Given the description of an element on the screen output the (x, y) to click on. 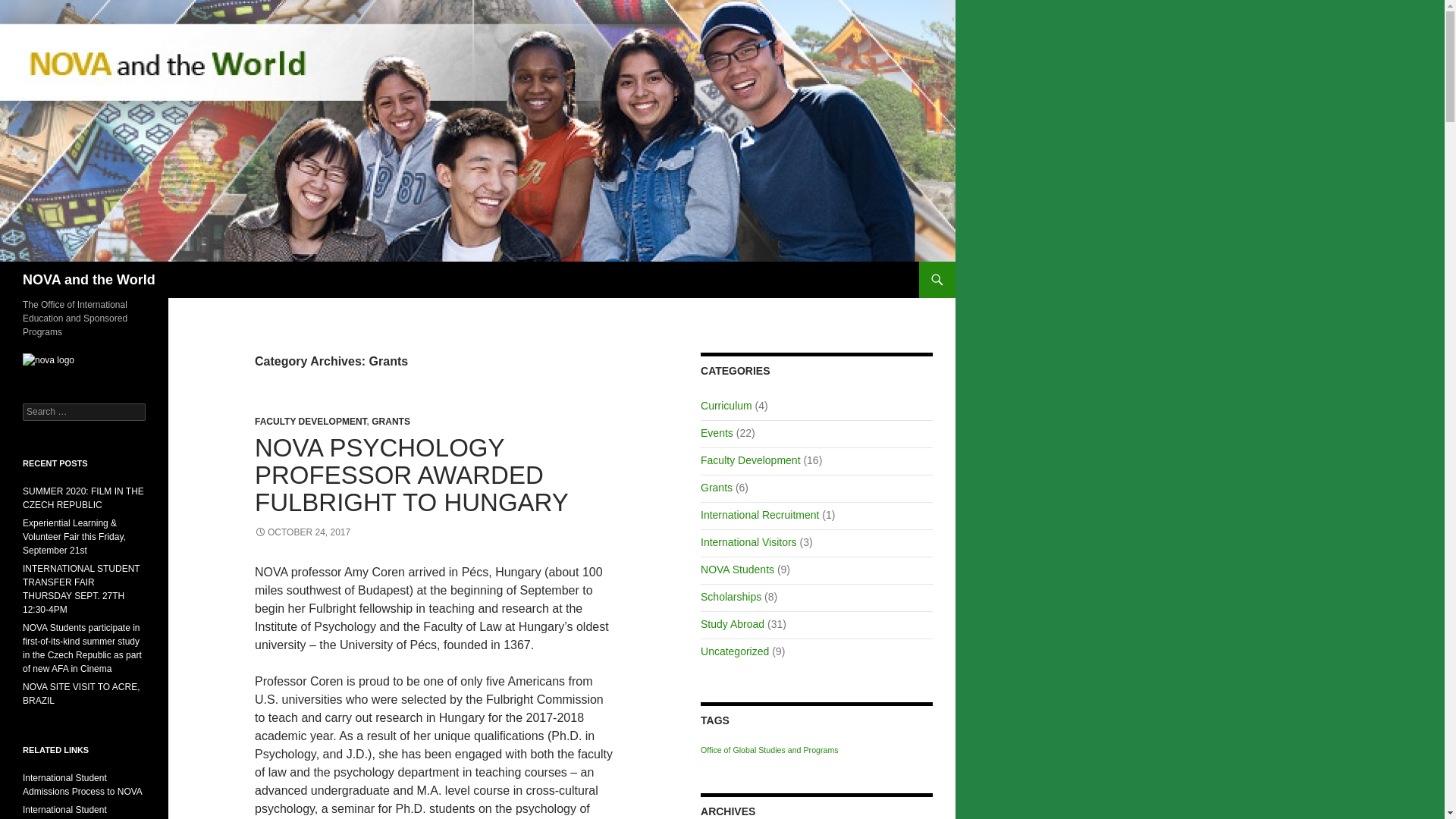
International student support services available at NOVA (64, 811)
FACULTY DEVELOPMENT (310, 421)
NOVA and the World (89, 279)
NOVA PSYCHOLOGY PROFESSOR AWARDED FULBRIGHT TO HUNGARY (411, 475)
GRANTS (390, 421)
OCTOBER 24, 2017 (302, 532)
